Given the description of an element on the screen output the (x, y) to click on. 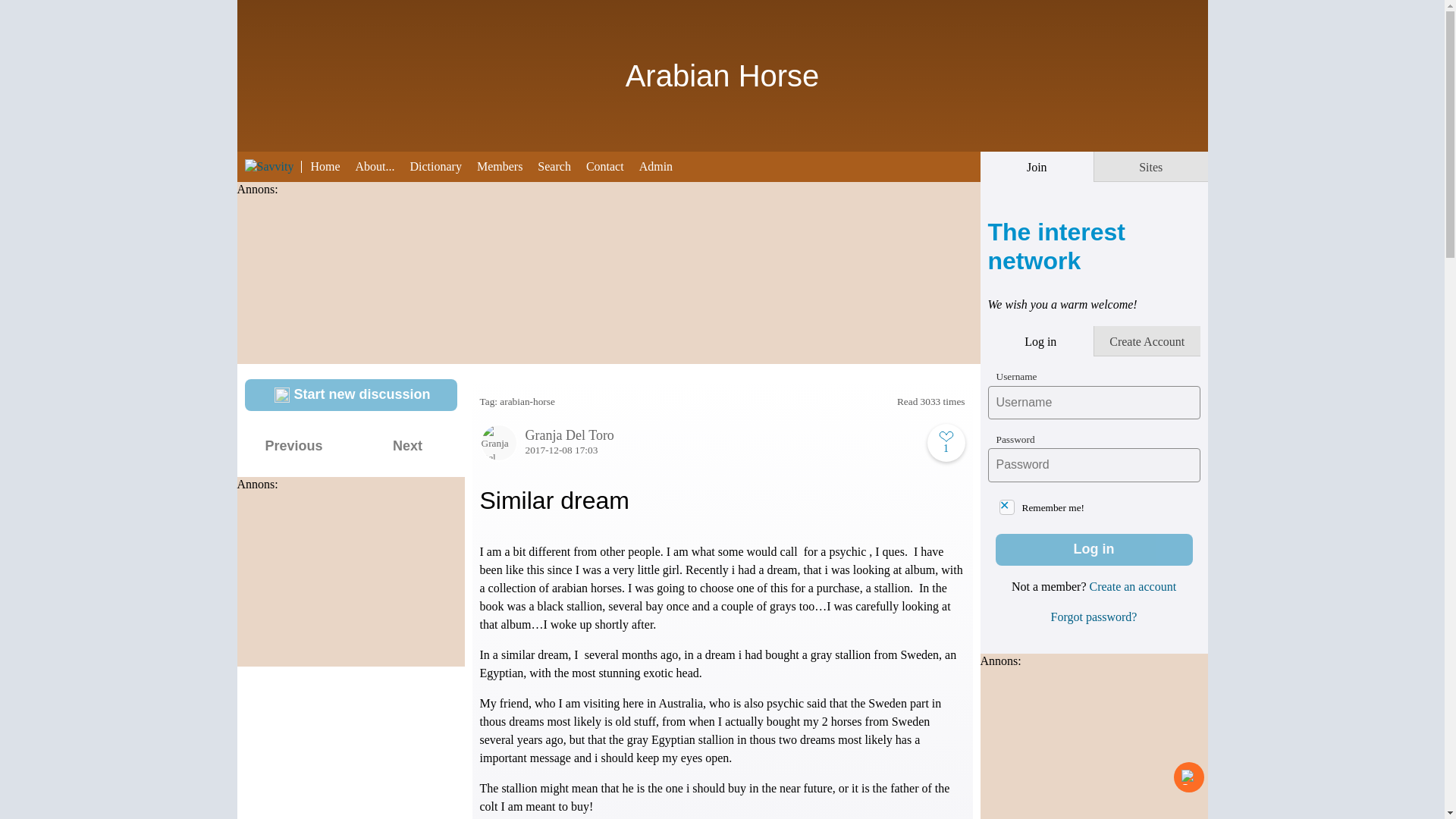
About... (382, 165)
Search (561, 165)
Home (332, 165)
Admin (663, 165)
Previous (293, 446)
Dictionary (442, 165)
Log in (1093, 549)
Members (507, 165)
Start new discussion (350, 395)
Show discussions (261, 20)
Granja Del Toro (721, 435)
Contact (612, 165)
on (1006, 507)
Arabian Horse (722, 82)
Next (407, 446)
